Given the description of an element on the screen output the (x, y) to click on. 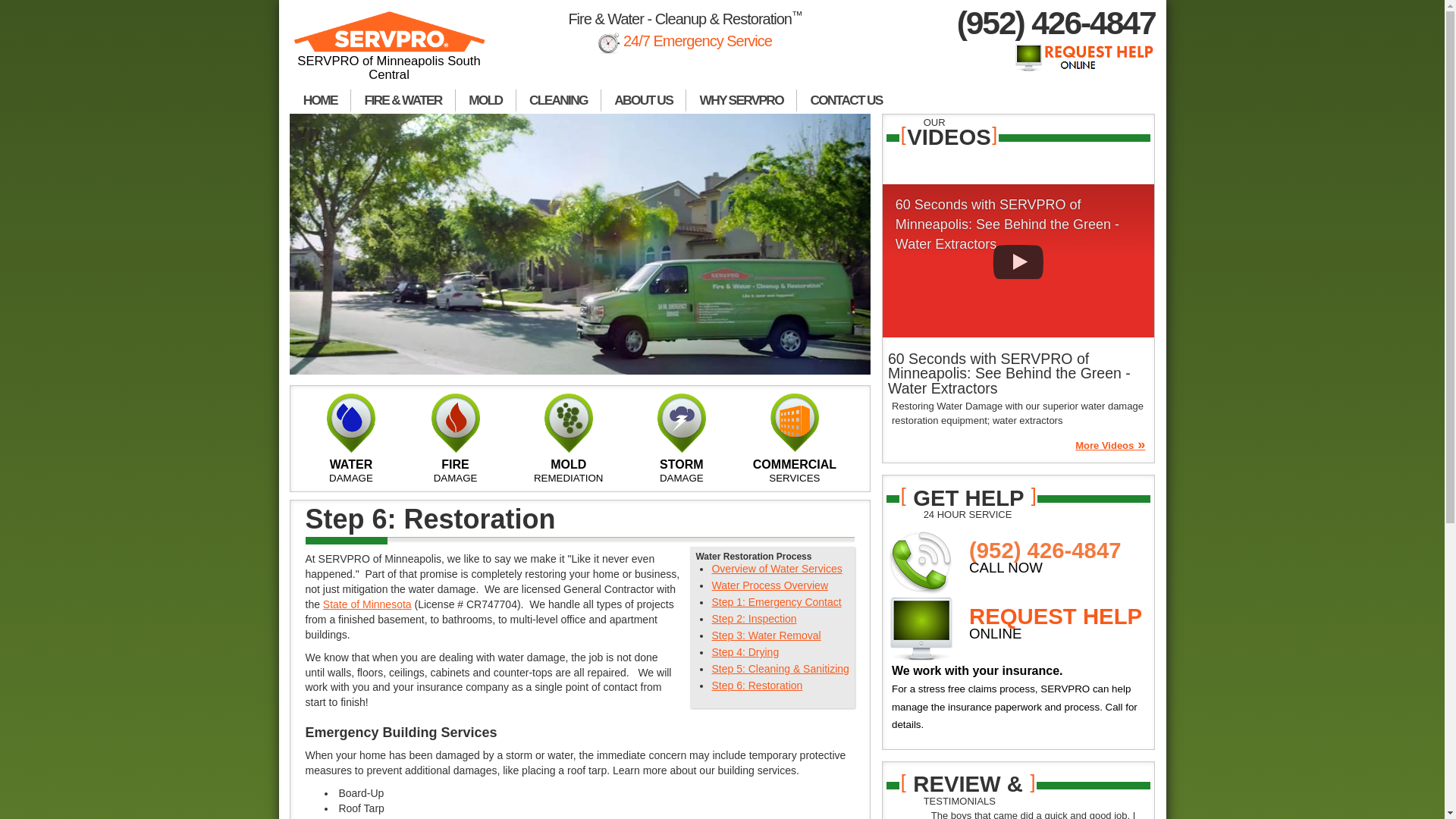
CLEANING (558, 101)
SERVPRO of Minneapolis South Central (389, 53)
HOME (319, 101)
MOLD (485, 101)
ABOUT US (643, 101)
